Given the description of an element on the screen output the (x, y) to click on. 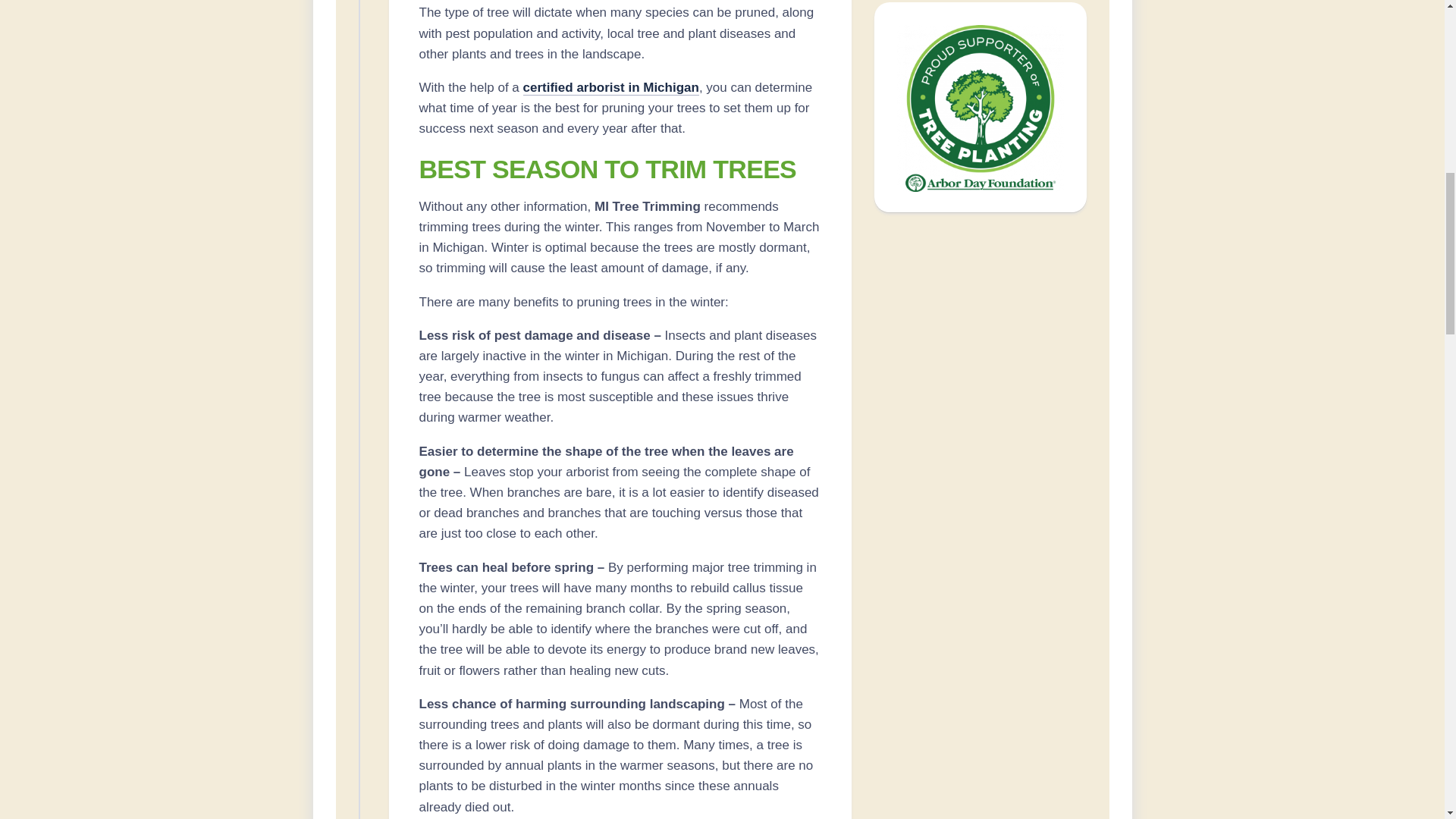
certified arborist in Michigan (610, 87)
